Given the description of an element on the screen output the (x, y) to click on. 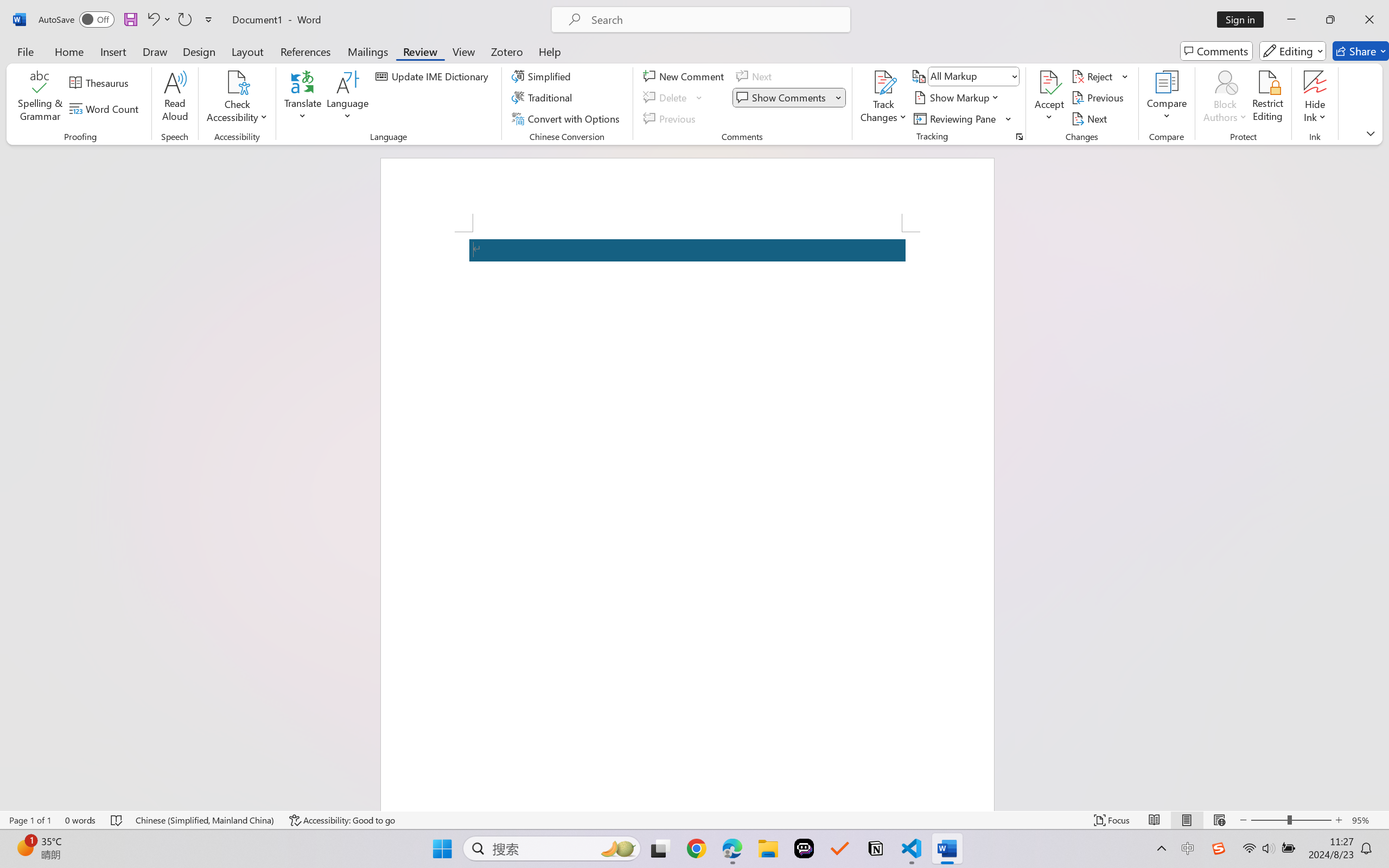
New Comment (685, 75)
Delete (673, 97)
Show Comments (788, 97)
Next (1090, 118)
Reviewing Pane (962, 118)
Editing (1292, 50)
